Given the description of an element on the screen output the (x, y) to click on. 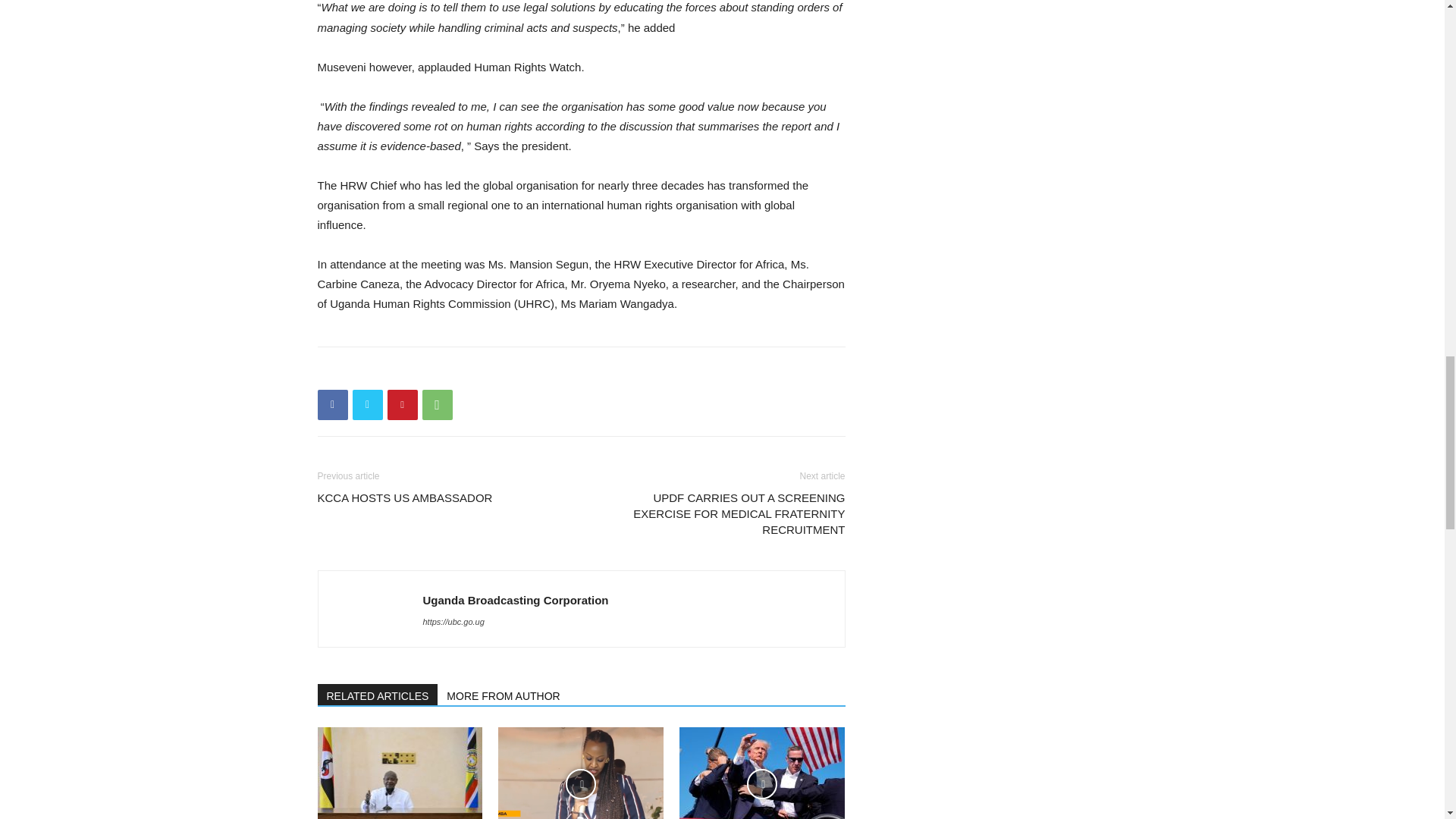
Twitter (366, 404)
Pinterest (401, 404)
bottomFacebookLike (430, 371)
Facebook (332, 404)
WhatsApp (436, 404)
President Museveni Signs 19 Bills into Law (399, 773)
